Given the description of an element on the screen output the (x, y) to click on. 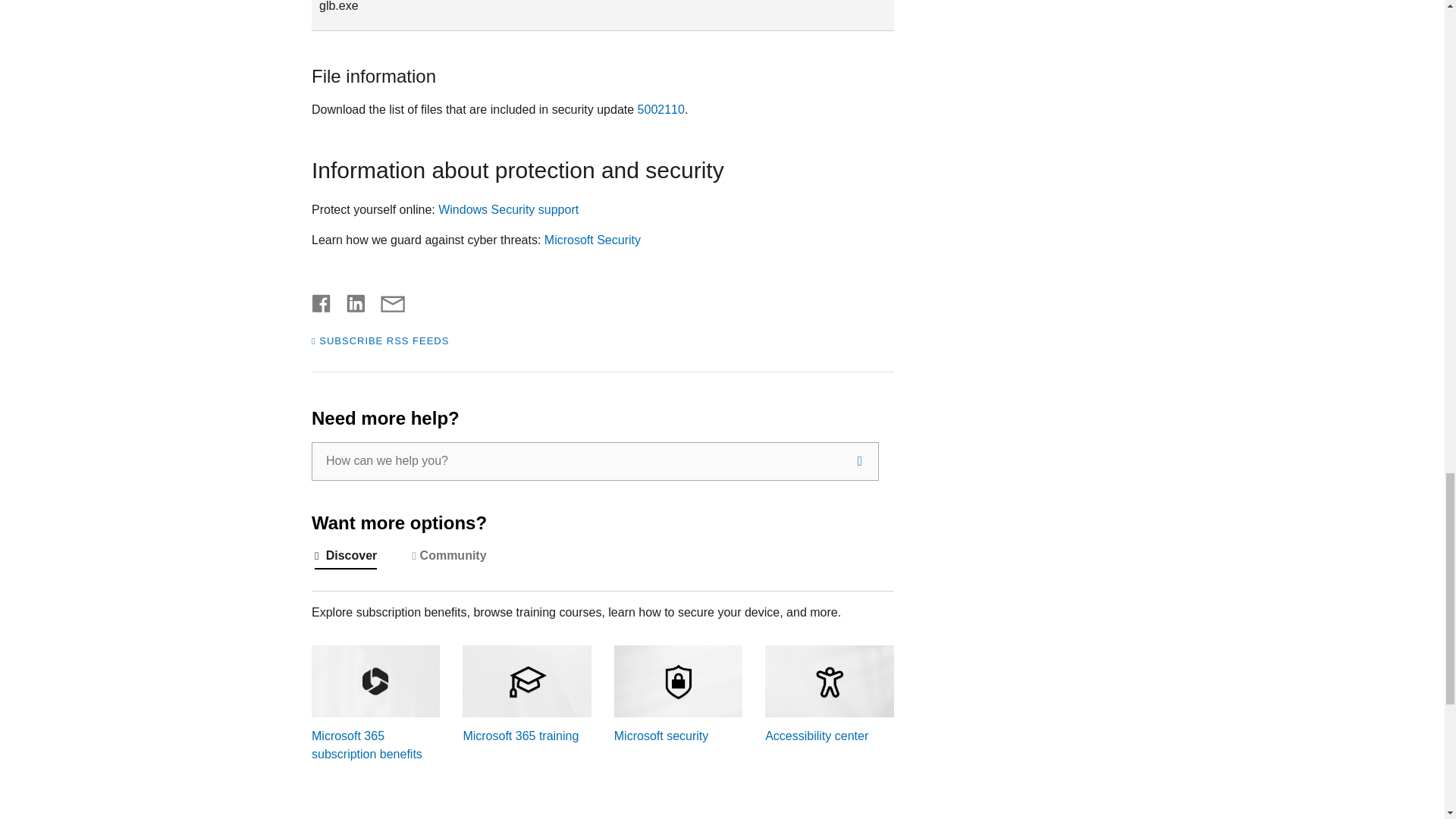
Search (860, 461)
Share by email (385, 300)
Share on LinkedIn (349, 300)
Share on Facebook (322, 300)
